Given the description of an element on the screen output the (x, y) to click on. 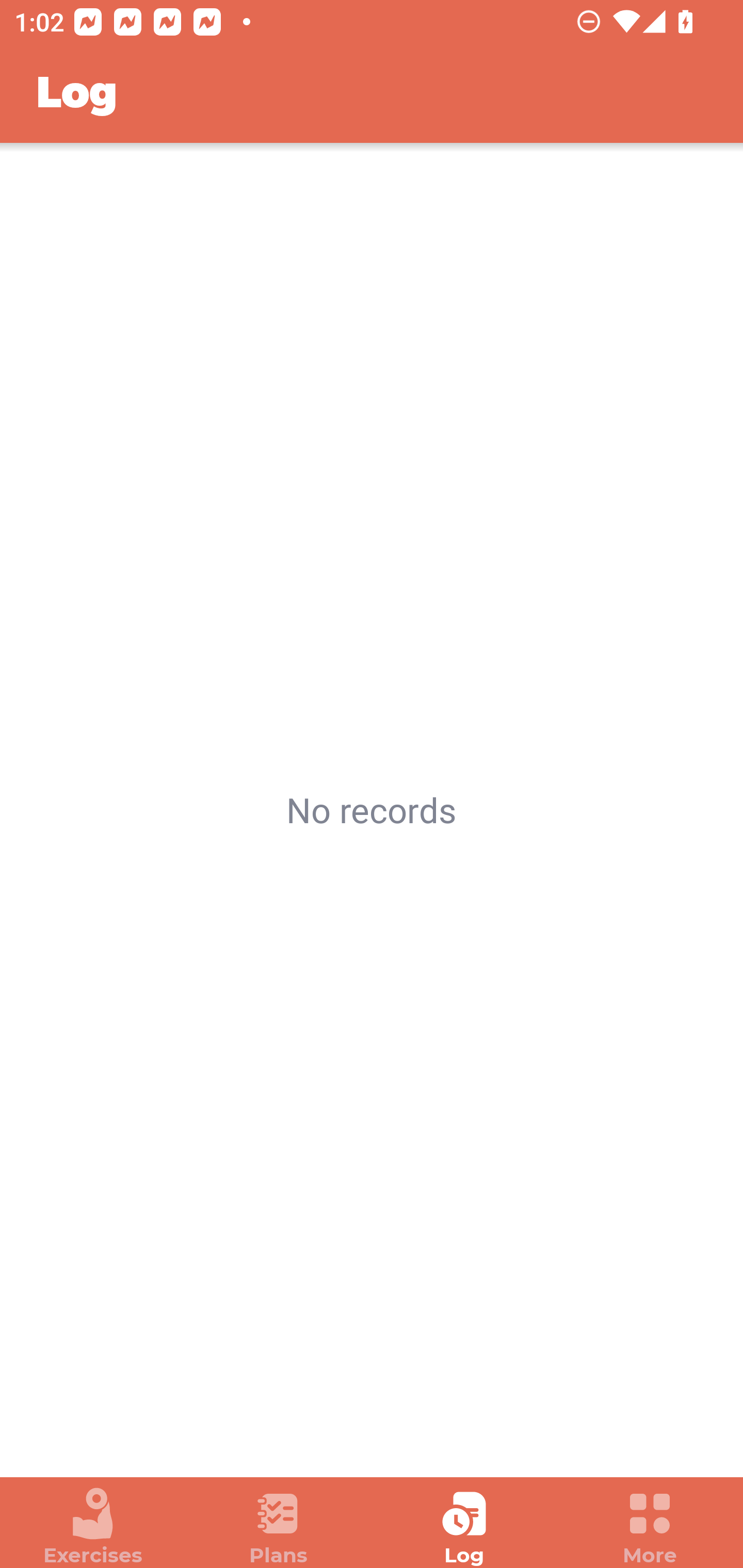
Exercises (92, 1527)
Plans (278, 1527)
Log (464, 1527)
More (650, 1527)
